Given the description of an element on the screen output the (x, y) to click on. 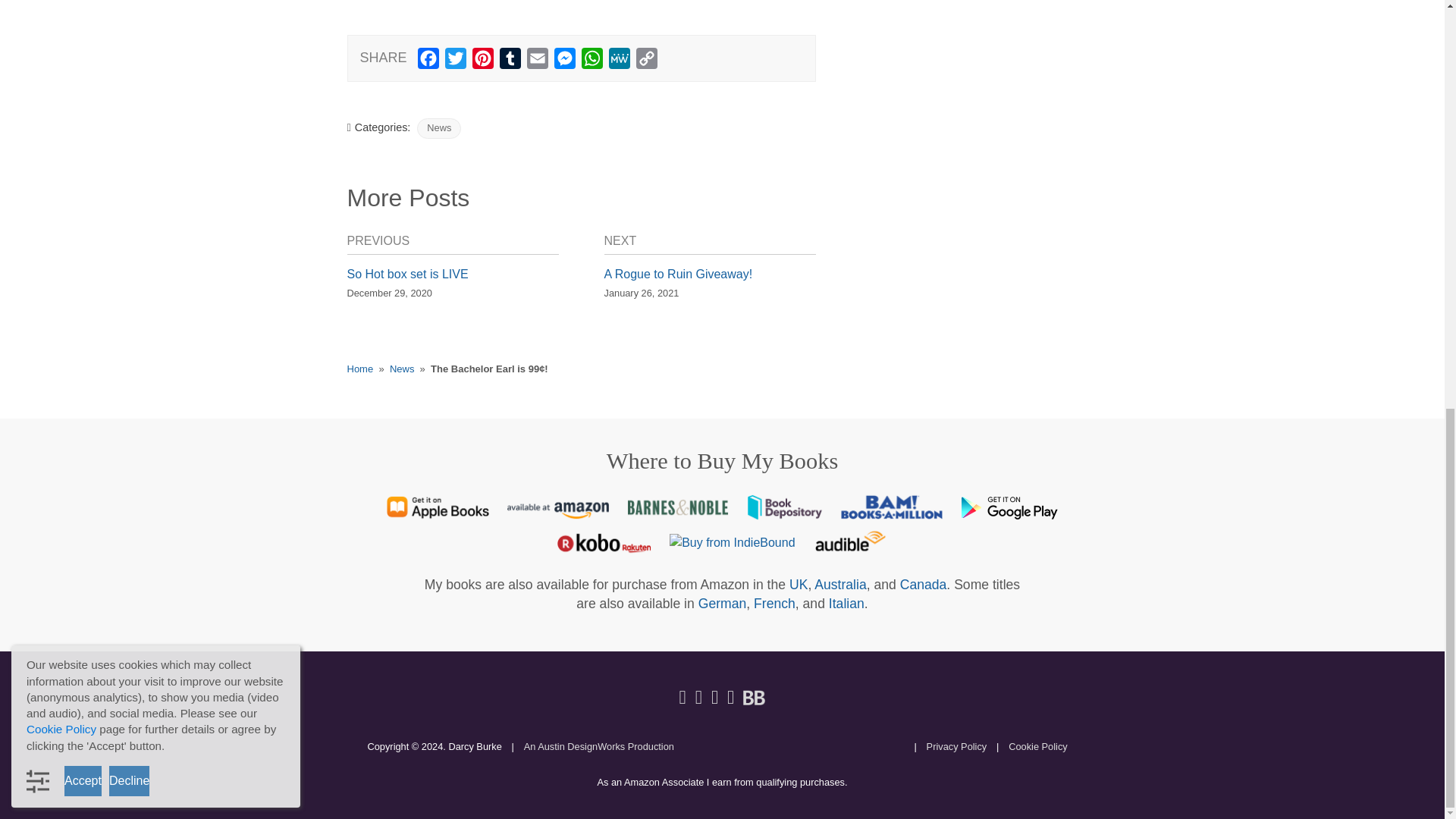
Facebook (428, 61)
Pinterest (482, 61)
Messenger (564, 61)
WhatsApp (591, 61)
Messenger (564, 61)
Pinterest (482, 61)
Email (537, 61)
Facebook (428, 61)
Tumblr (510, 61)
MeWe (619, 61)
